Given the description of an element on the screen output the (x, y) to click on. 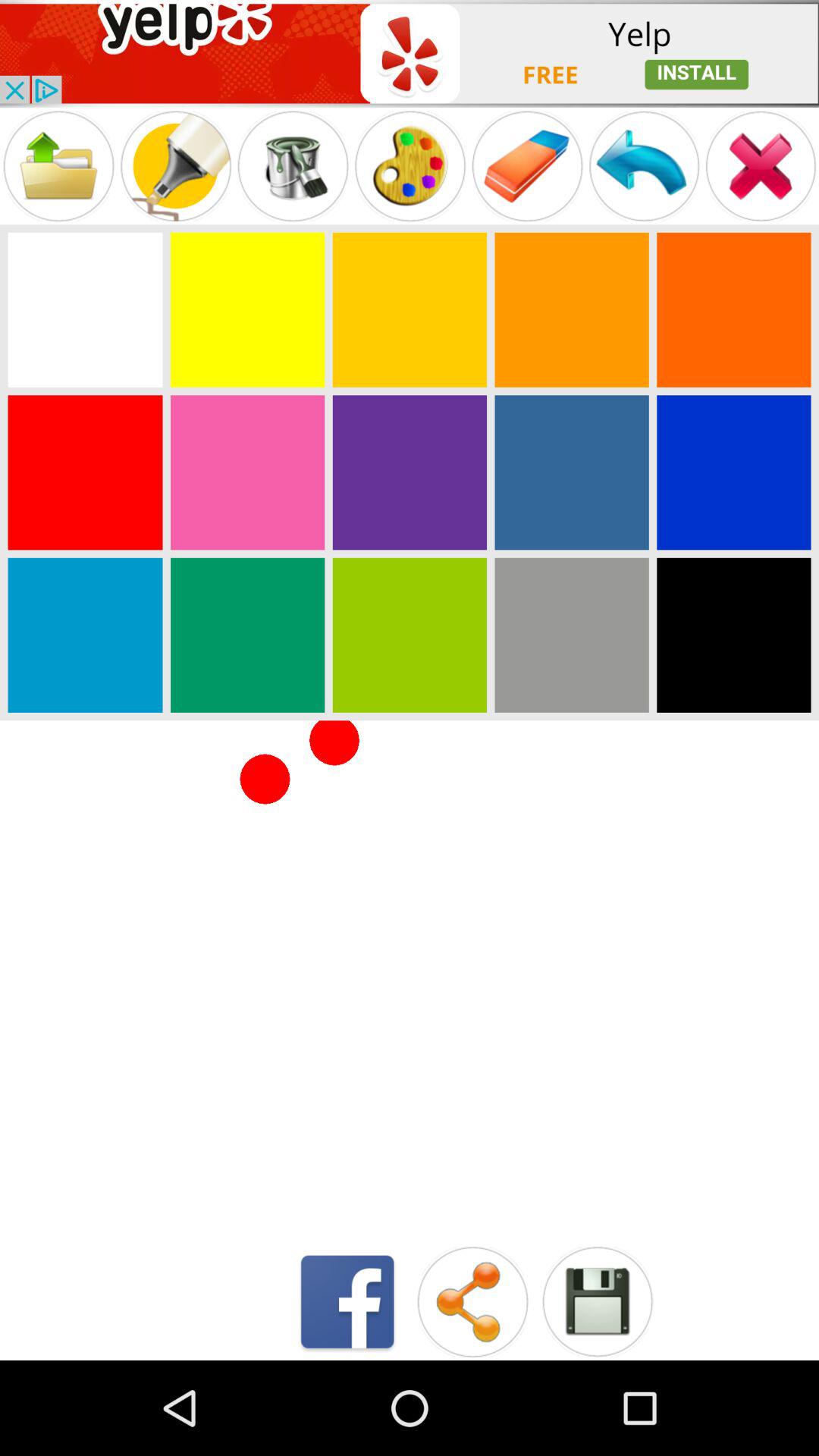
select colour (409, 309)
